Given the description of an element on the screen output the (x, y) to click on. 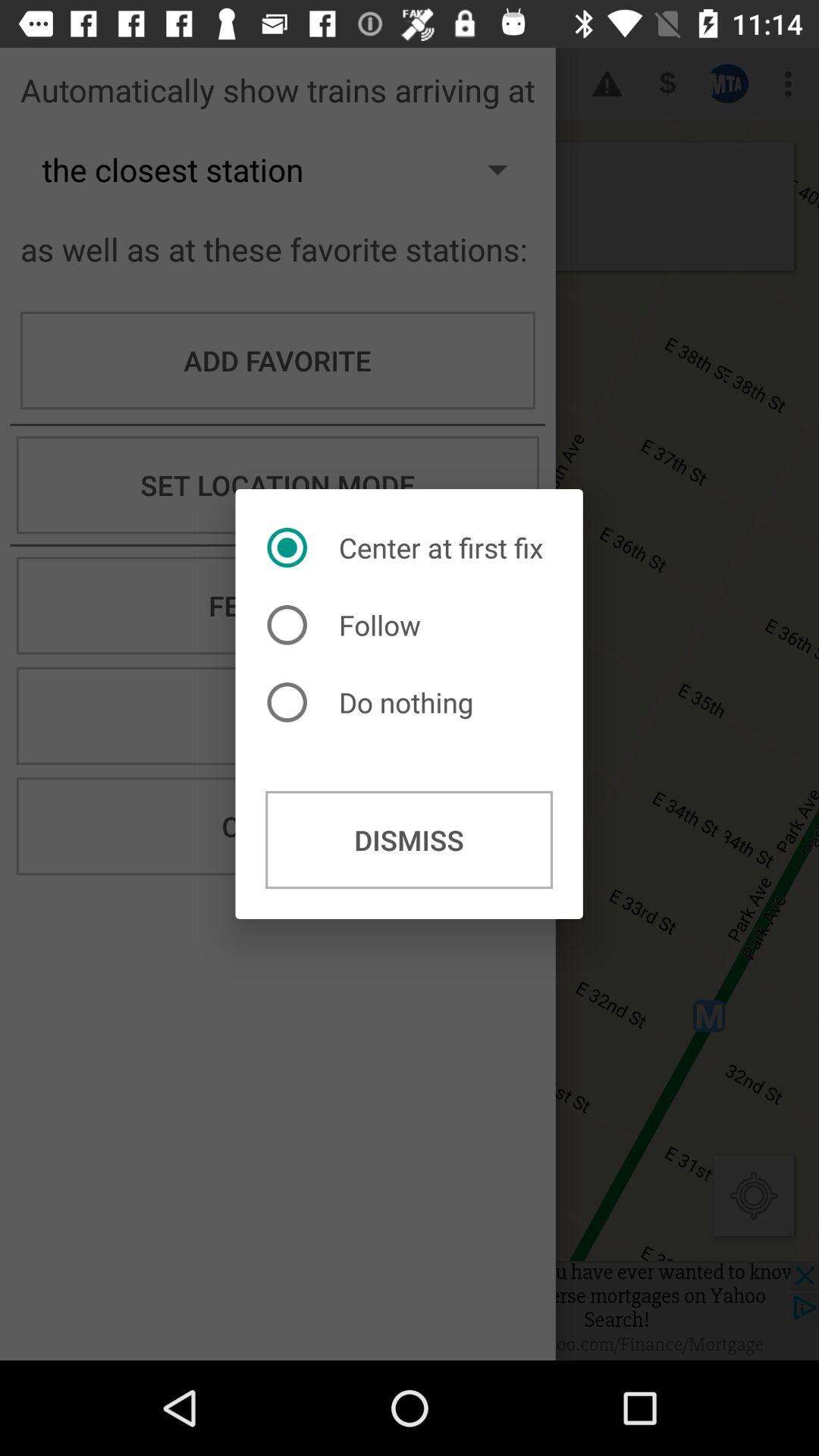
scroll until the follow (347, 624)
